Given the description of an element on the screen output the (x, y) to click on. 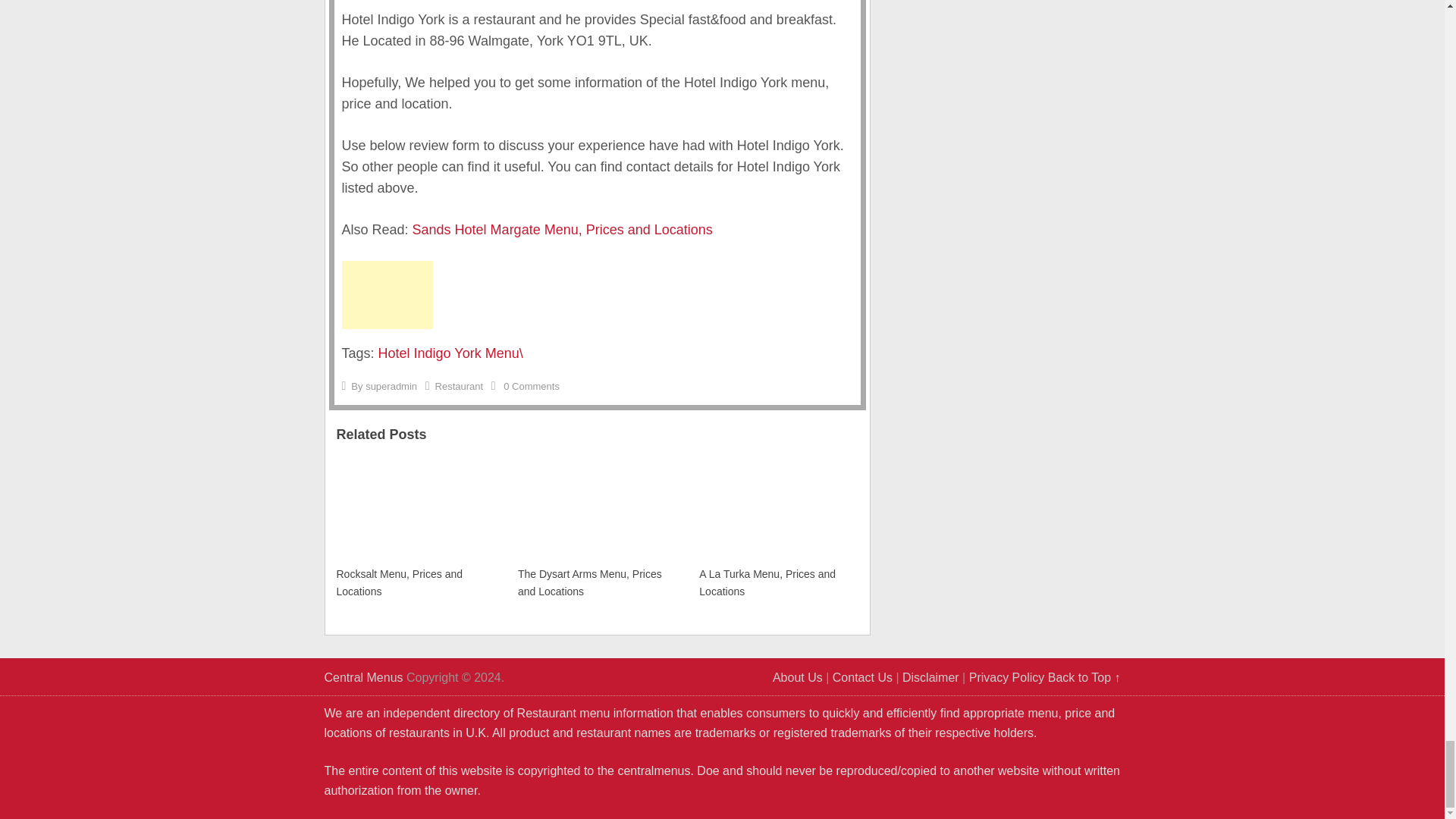
Your Best Menu Guide (363, 676)
Sands Hotel Margate Menu, Prices and Locations (562, 229)
Central Menus (363, 676)
The Dysart Arms Menu, Prices and Locations (593, 529)
0 Comments (531, 386)
Restaurant (459, 386)
Rocksalt Menu, Prices and Locations (411, 529)
Disclaimer (930, 676)
Rocksalt Menu, Prices and Locations (411, 529)
superadmin (390, 386)
About Us (797, 676)
A La Turka Menu, Prices and Locations (774, 529)
A La Turka Menu, Prices and Locations (774, 529)
The Dysart Arms Menu, Prices and Locations (593, 529)
Contact Us (862, 676)
